Given the description of an element on the screen output the (x, y) to click on. 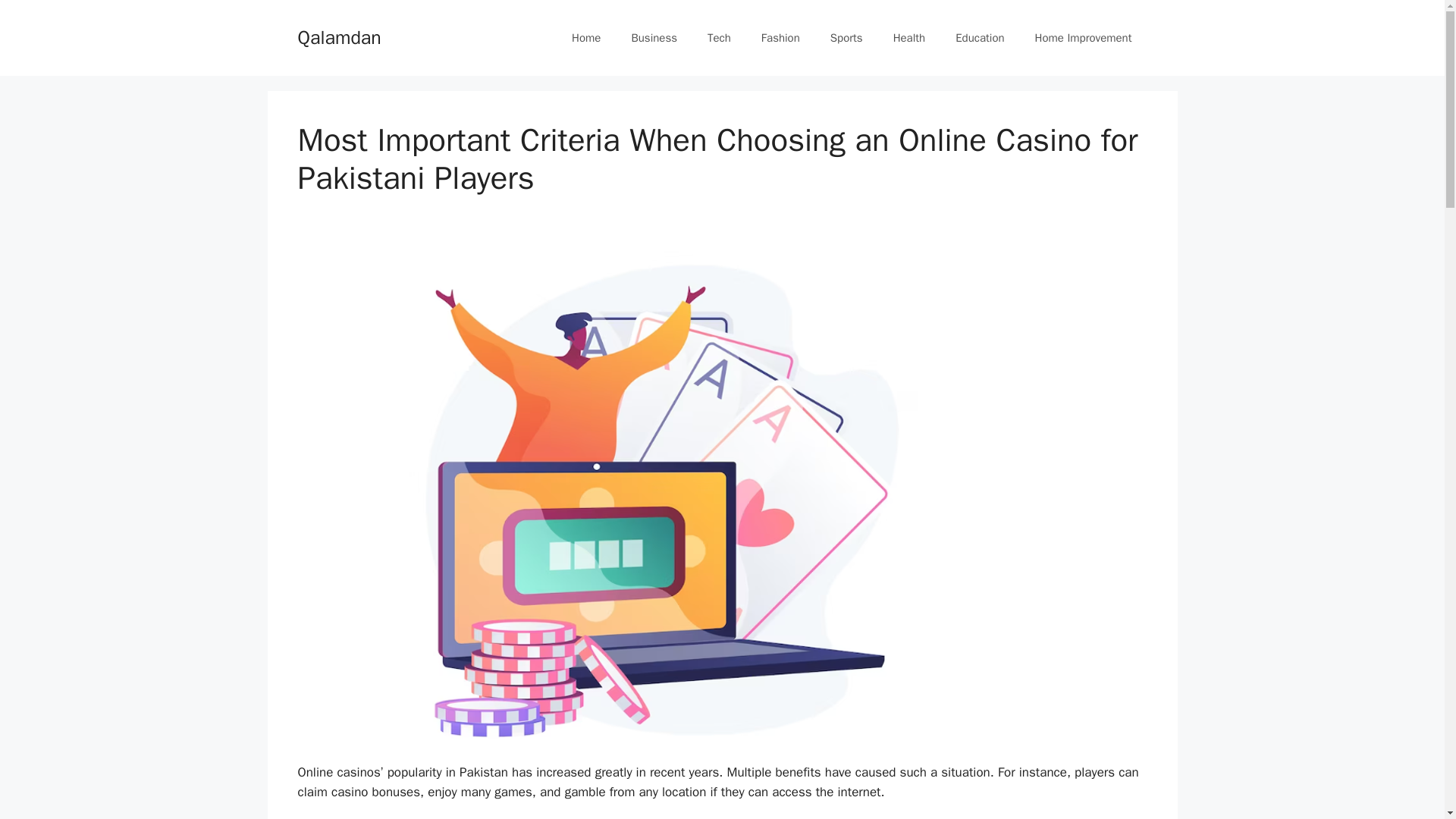
Health (908, 37)
Home Improvement (1083, 37)
Tech (719, 37)
Qalamdan (338, 37)
Home (585, 37)
Fashion (780, 37)
Education (979, 37)
Business (654, 37)
Sports (846, 37)
